Given the description of an element on the screen output the (x, y) to click on. 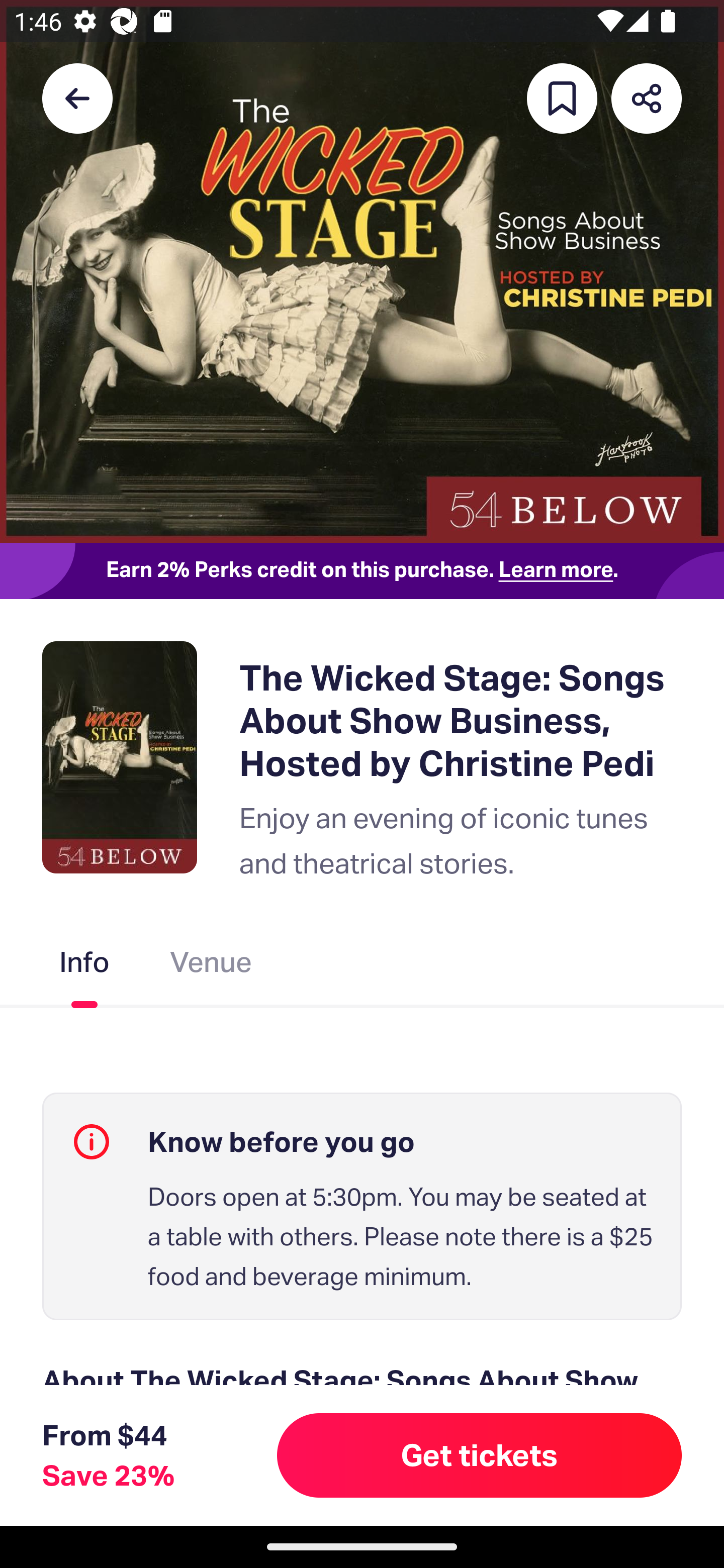
Earn 2% Perks credit on this purchase. Learn more. (362, 570)
Venue (210, 965)
Get tickets (479, 1454)
